Given the description of an element on the screen output the (x, y) to click on. 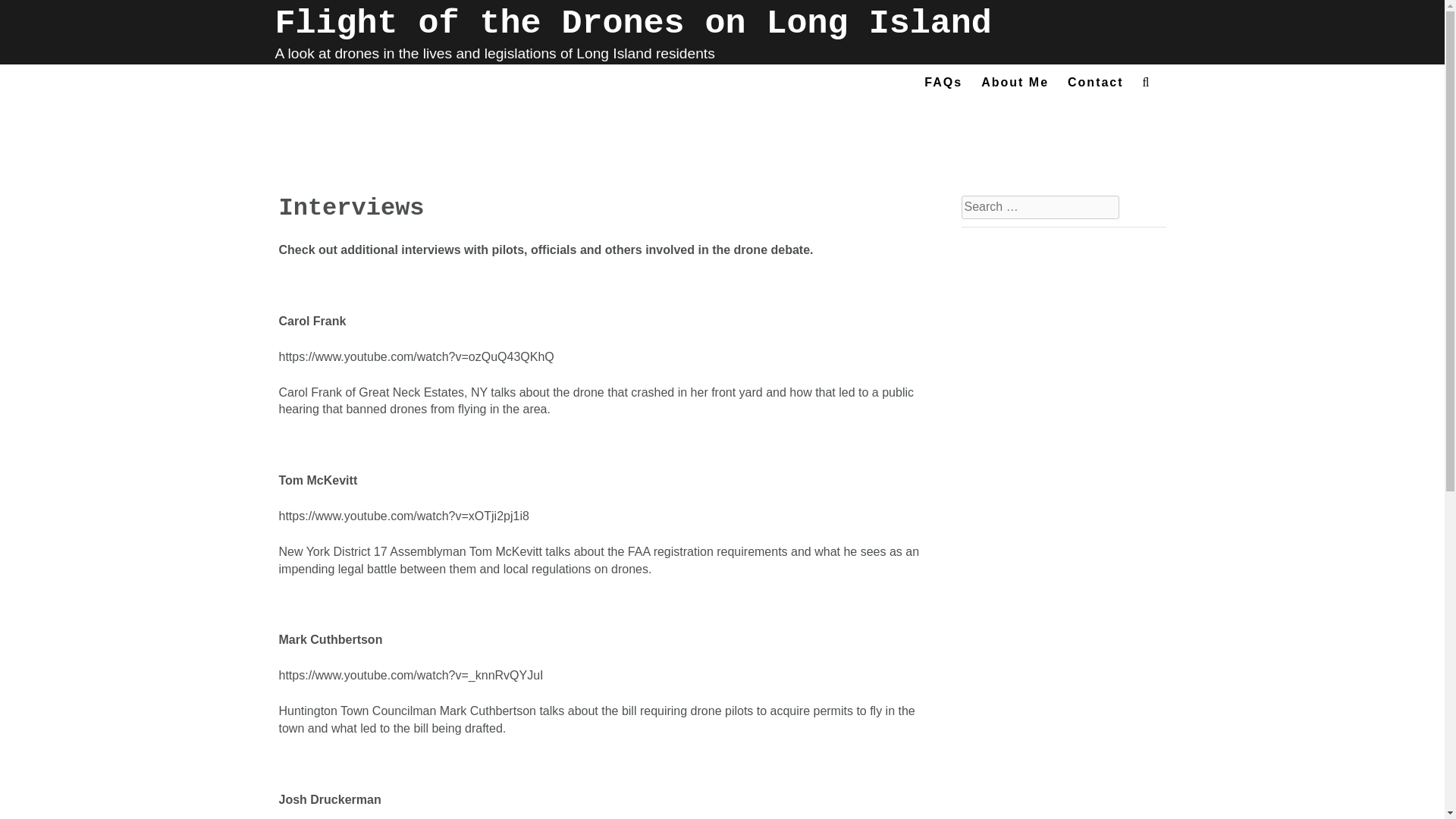
Contact (1095, 85)
Search (26, 16)
Flight of the Drones on Long Island (633, 23)
FAQs (943, 85)
About Me (1014, 85)
